Given the description of an element on the screen output the (x, y) to click on. 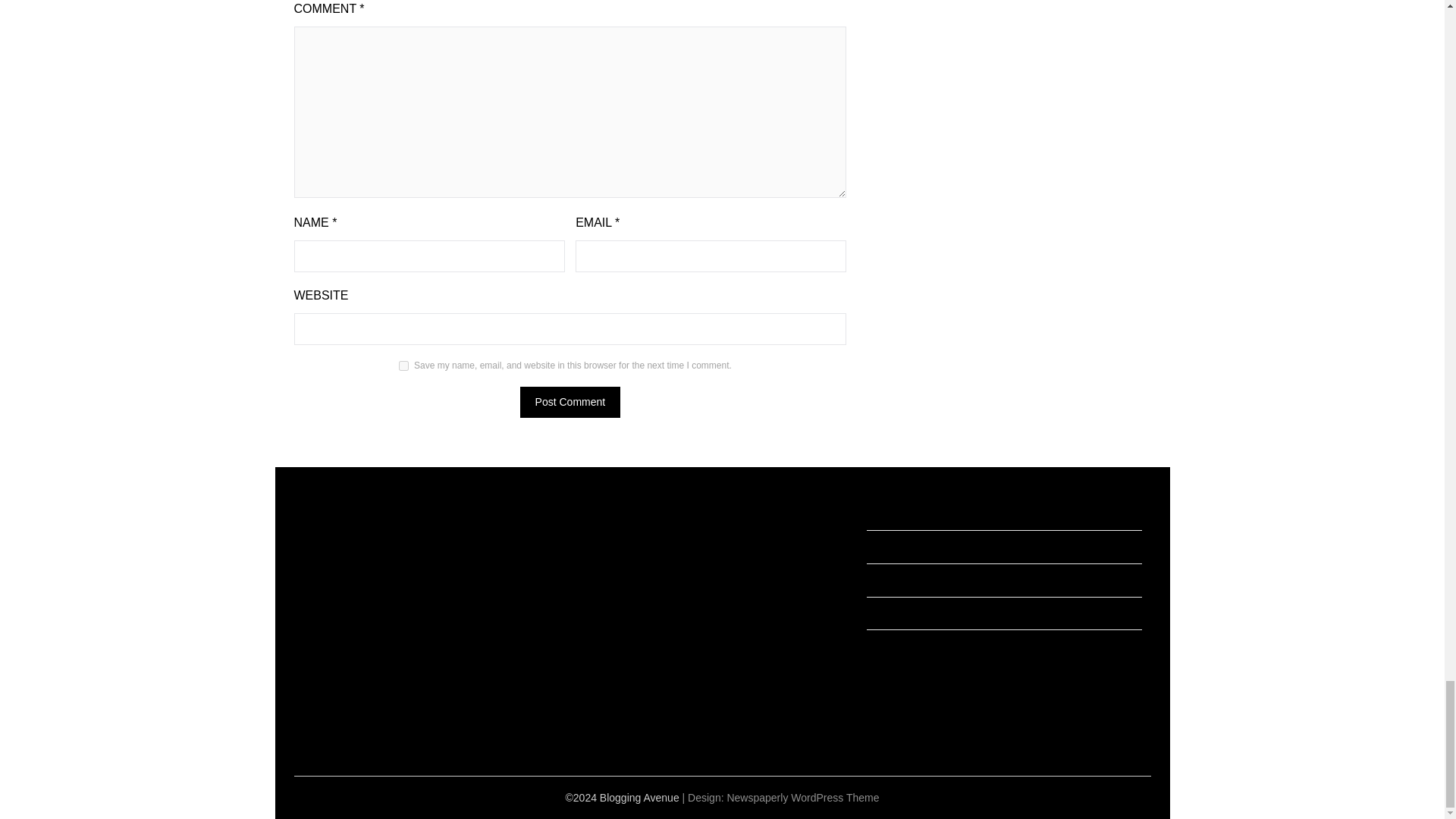
Post Comment (570, 401)
Newspaperly WordPress Theme (802, 797)
About Me (889, 645)
Post Comment (570, 401)
Affiliate Disclosure (909, 546)
Contact Me (893, 613)
Privacy Policy (899, 580)
yes (403, 366)
Earnings Disclaimer (913, 512)
